Given the description of an element on the screen output the (x, y) to click on. 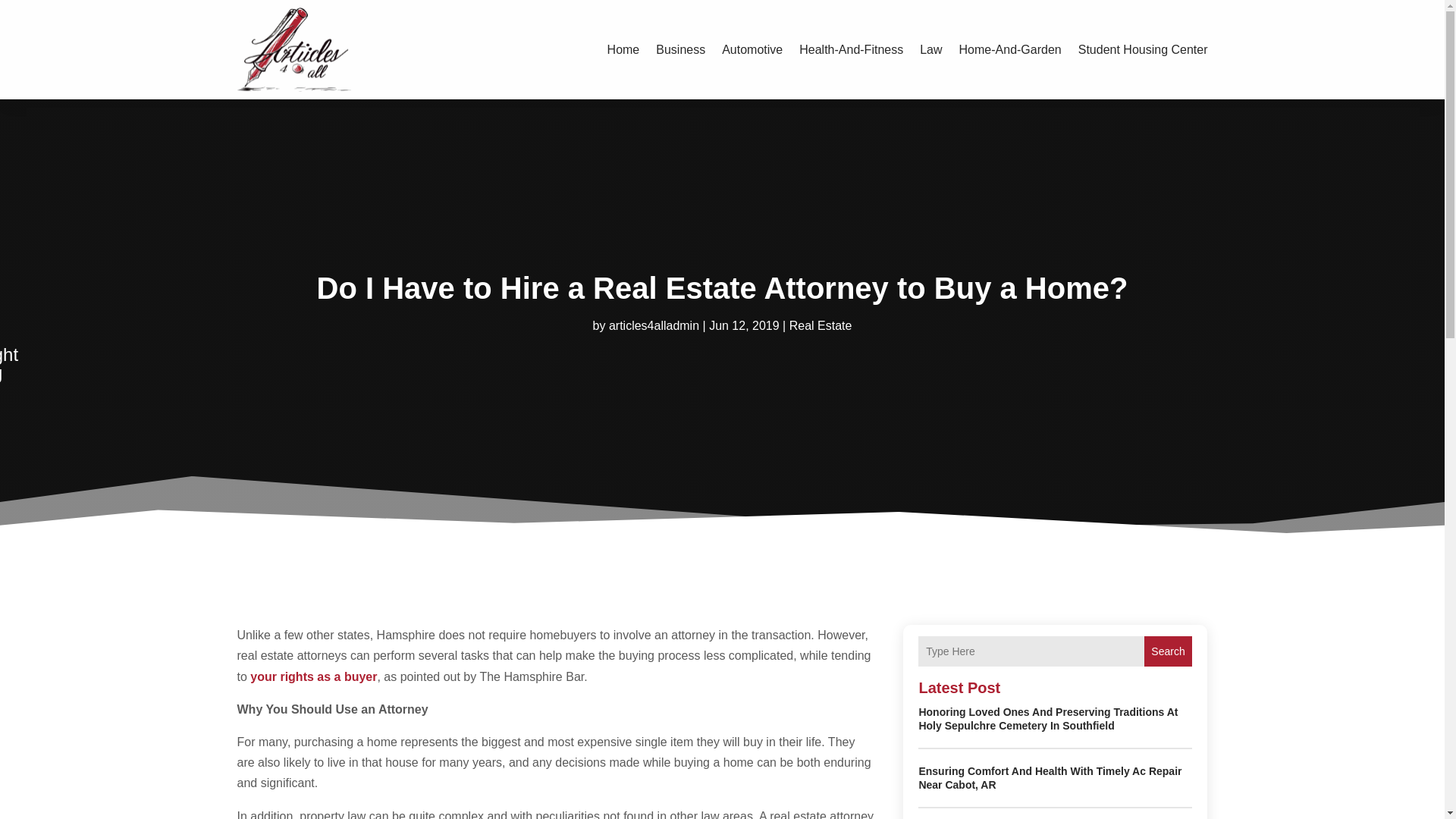
Home-And-Garden (1010, 49)
Student Housing Center (1143, 49)
articles4alladmin (653, 324)
your rights as a buyer (313, 676)
Health-And-Fitness (850, 49)
Search (1168, 651)
Real Estate (820, 324)
Posts by articles4alladmin (653, 324)
